Given the description of an element on the screen output the (x, y) to click on. 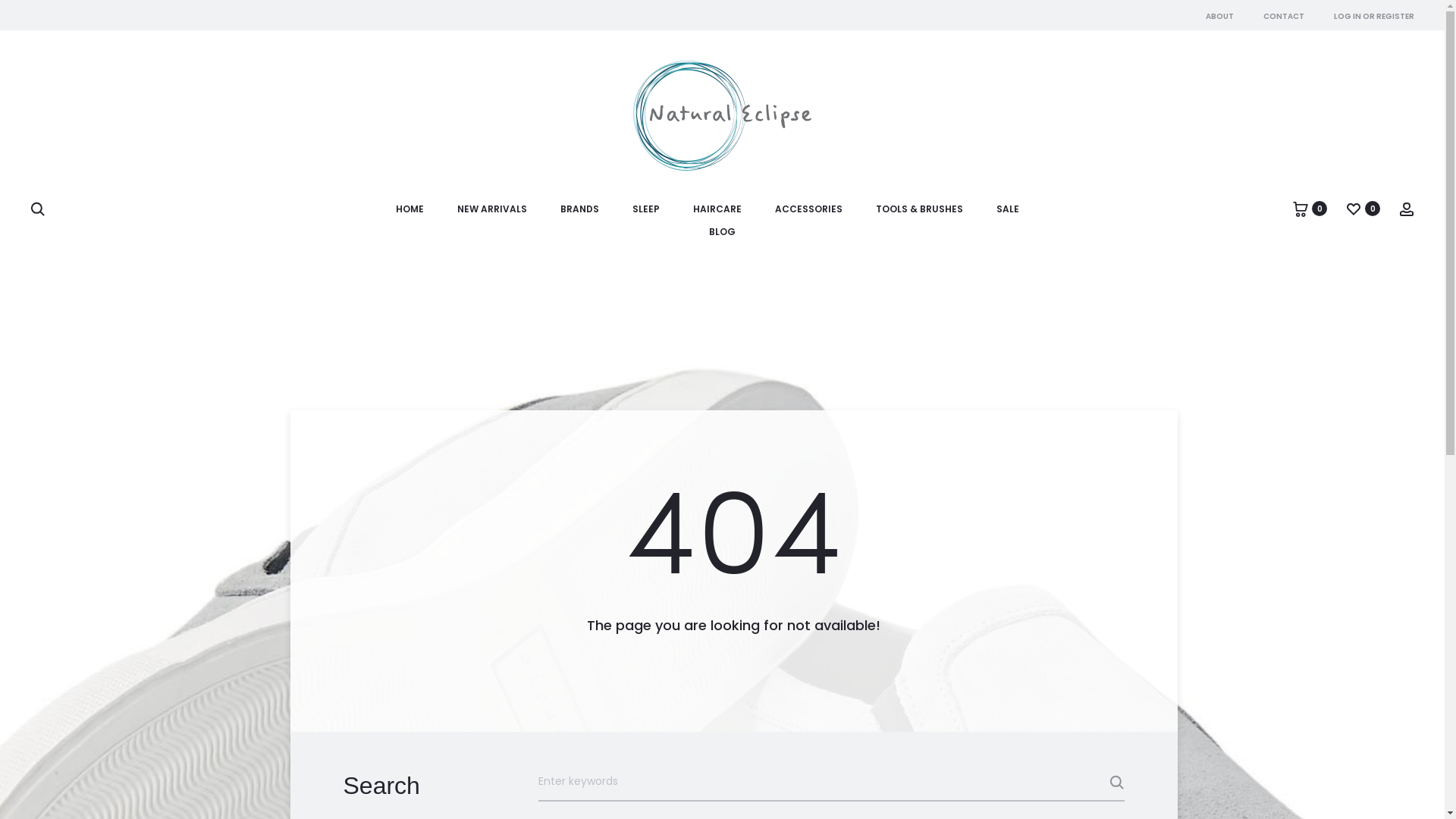
HAIRCARE Element type: text (717, 209)
SLEEP Element type: text (645, 209)
ABOUT Element type: text (1219, 16)
CONTACT Element type: text (1283, 16)
BRANDS Element type: text (578, 209)
0 Element type: text (1300, 208)
SALE Element type: text (1007, 209)
Search Element type: text (1085, 781)
HOME Element type: text (409, 209)
ACCESSORIES Element type: text (808, 209)
BLOG Element type: text (722, 231)
LOG IN OR REGISTER Element type: text (1373, 16)
TOOLS & BRUSHES Element type: text (918, 209)
NEW ARRIVALS Element type: text (491, 209)
0 Element type: text (1353, 208)
